Given the description of an element on the screen output the (x, y) to click on. 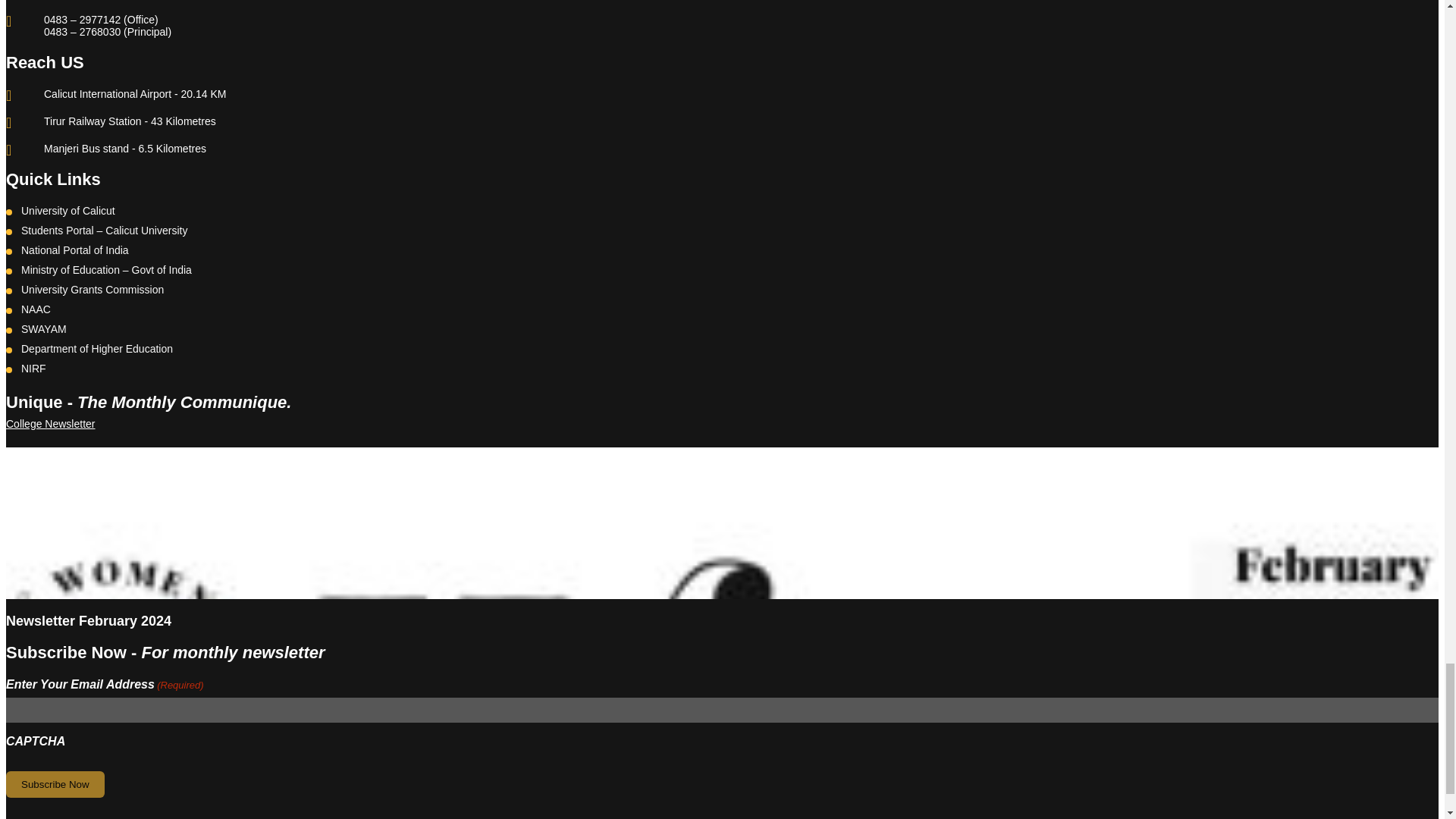
Subscribe Now (54, 784)
